Given the description of an element on the screen output the (x, y) to click on. 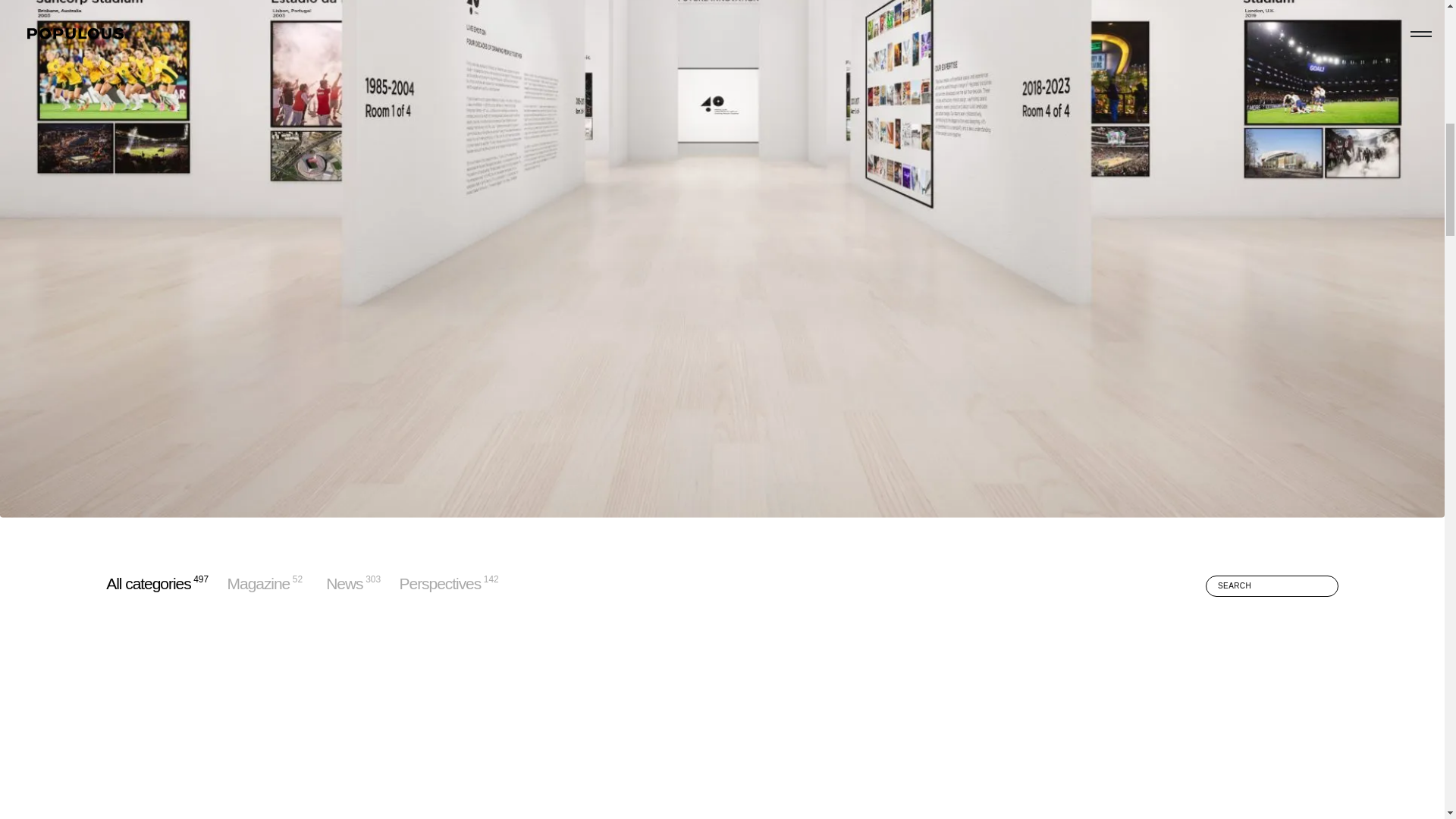
SEARCH (439, 583)
